Given the description of an element on the screen output the (x, y) to click on. 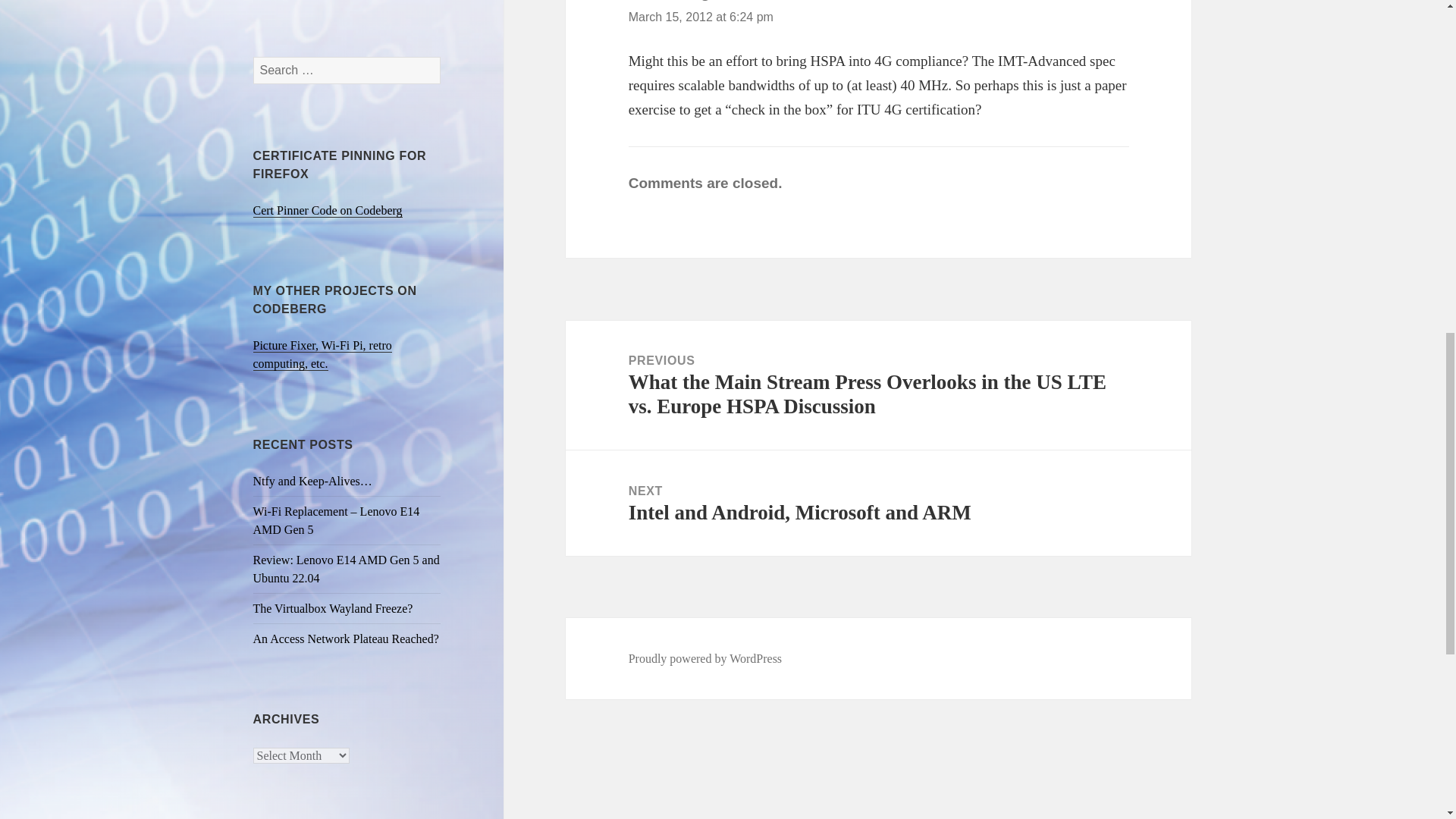
Review: Lenovo E14 AMD Gen 5 and Ubuntu 22.04 (346, 568)
Picture Fixer, Wi-Fi Pi, retro computing, etc. (322, 355)
Cert Pinner Code on Codeberg (878, 503)
March 15, 2012 at 6:24 pm (328, 210)
Search (700, 16)
Proudly powered by WordPress (333, 608)
Search (704, 658)
